Given the description of an element on the screen output the (x, y) to click on. 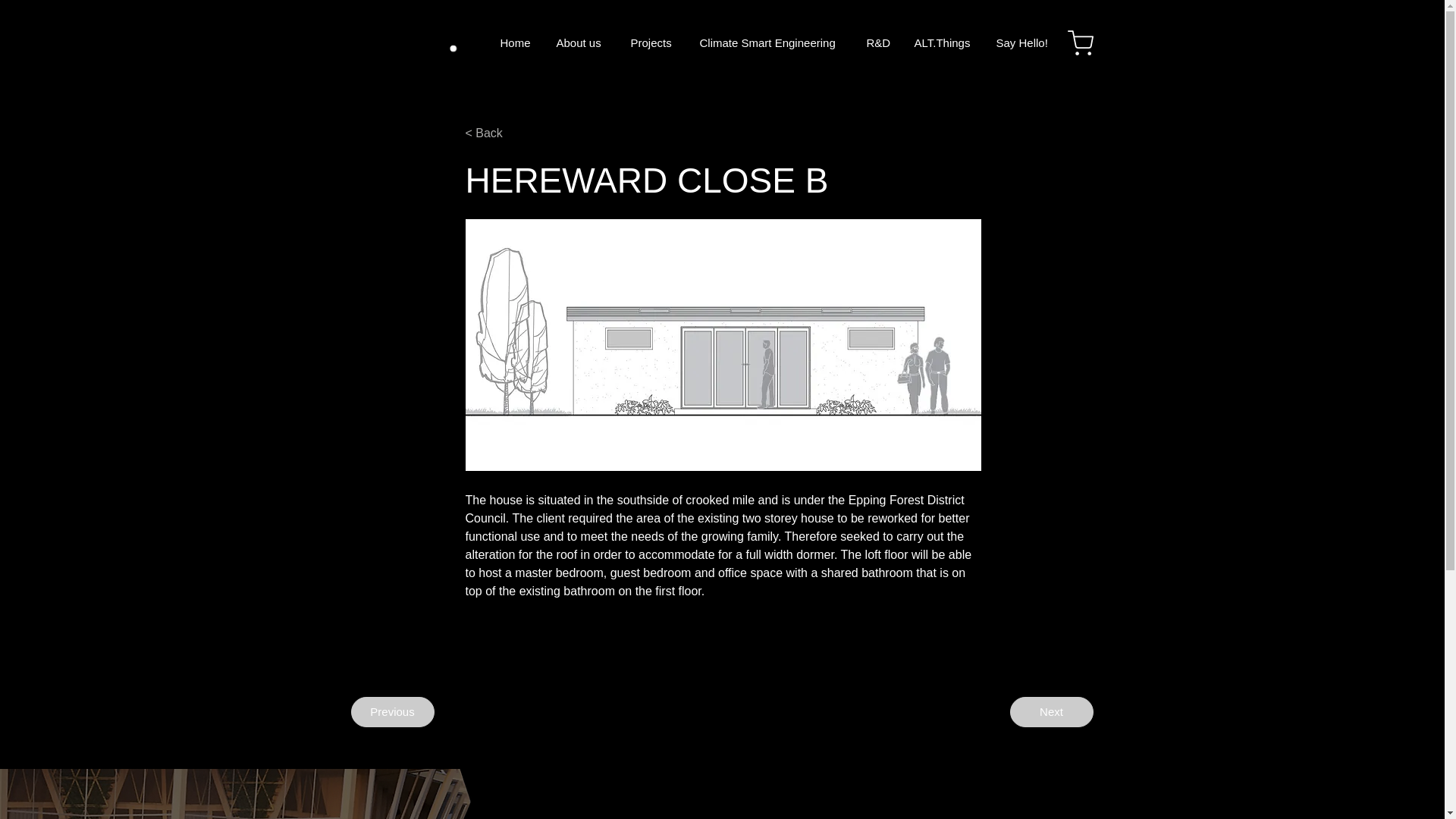
Next (1051, 711)
Say Hello! (1021, 42)
About us (581, 42)
ALT.Things (943, 42)
Home (515, 42)
Climate Smart Engineering (772, 42)
Previous (391, 711)
Projects (652, 42)
